Given the description of an element on the screen output the (x, y) to click on. 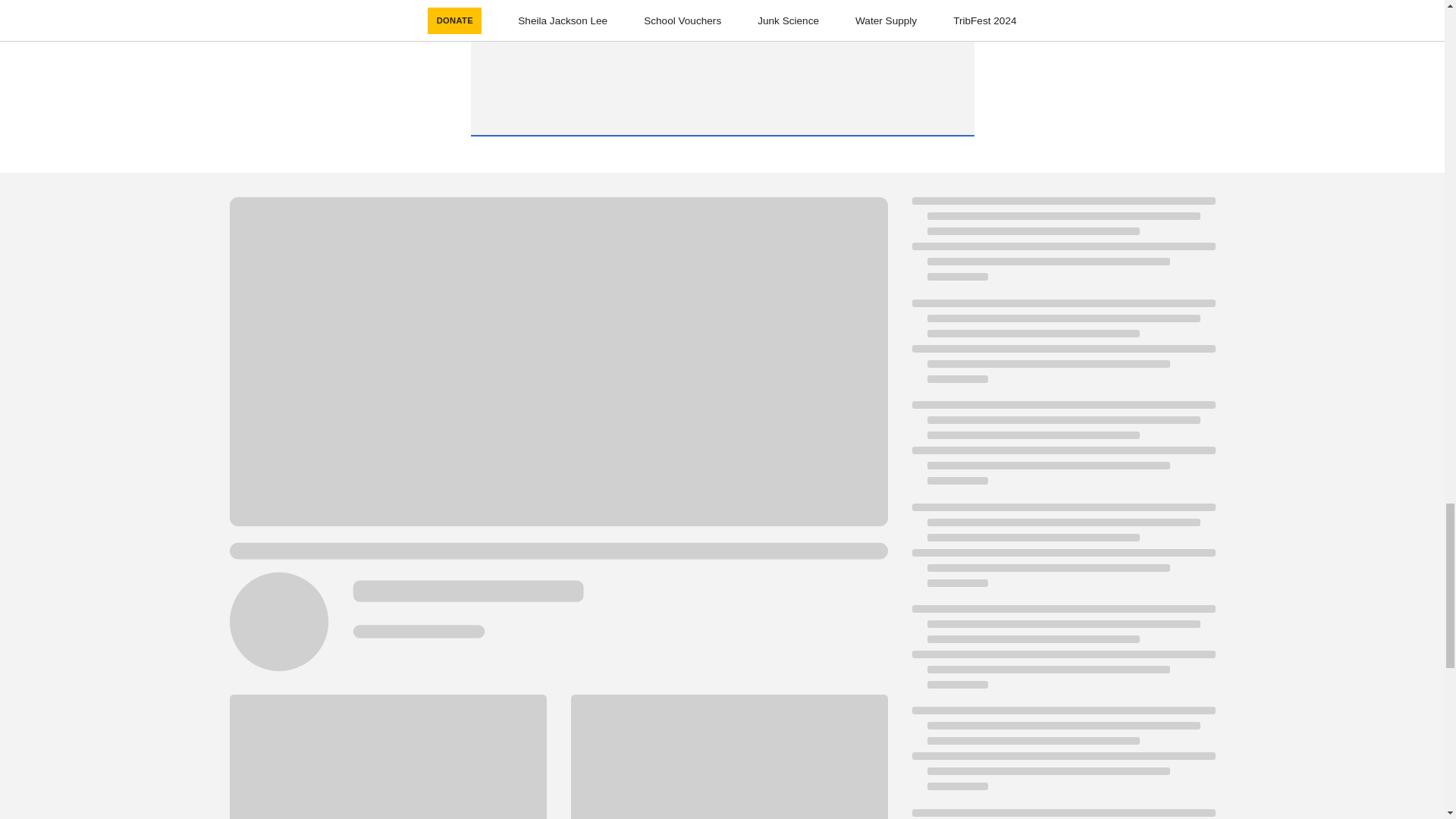
Loading indicator (1062, 246)
Loading indicator (1062, 654)
Loading indicator (1062, 450)
Loading indicator (1062, 552)
Loading indicator (1062, 755)
Loading indicator (1062, 348)
Loading indicator (1062, 814)
